Given the description of an element on the screen output the (x, y) to click on. 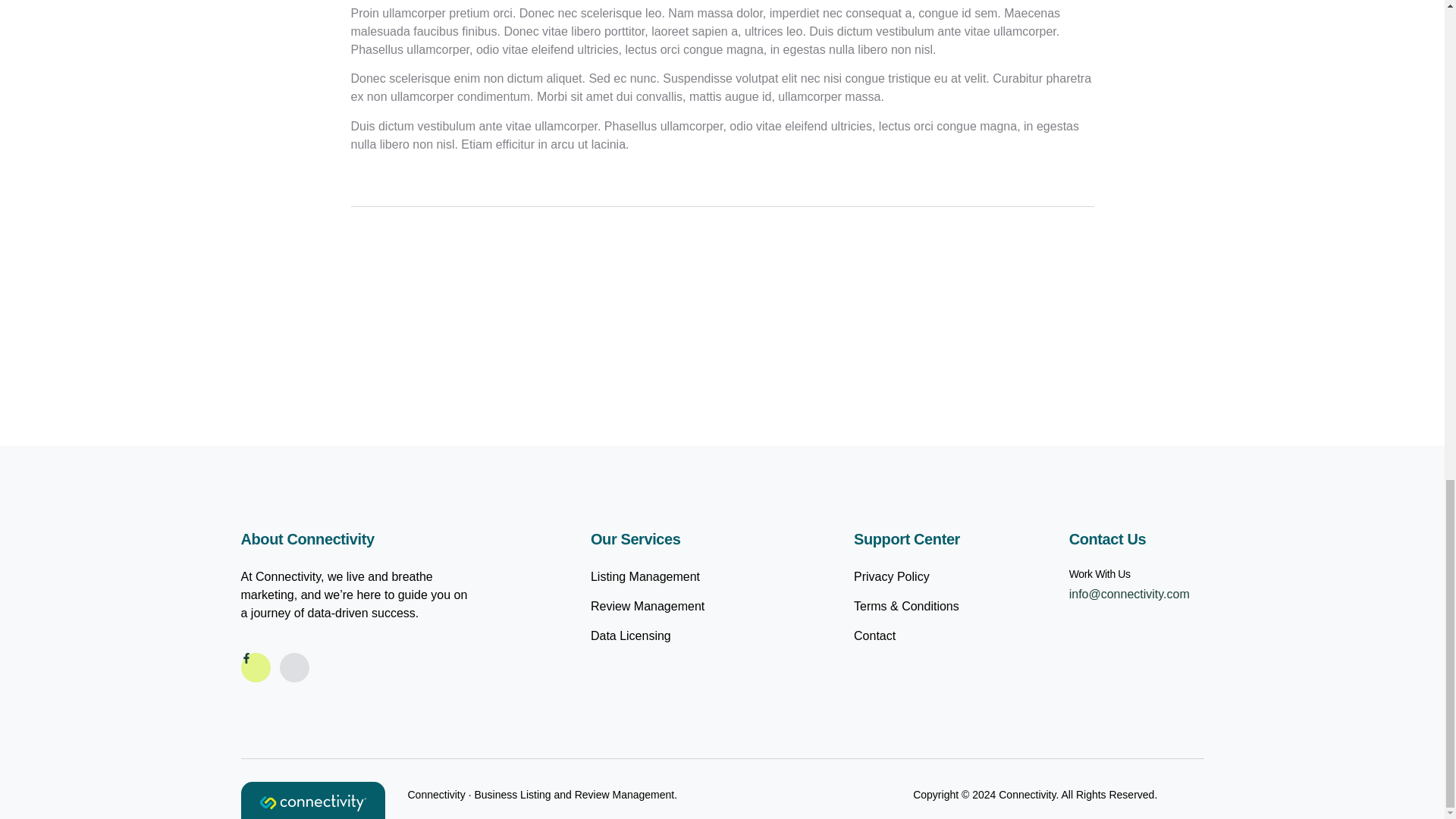
Data Licensing (682, 636)
Listing Management (682, 577)
Privacy Policy (920, 577)
Contact (920, 636)
Review Management (682, 606)
